Given the description of an element on the screen output the (x, y) to click on. 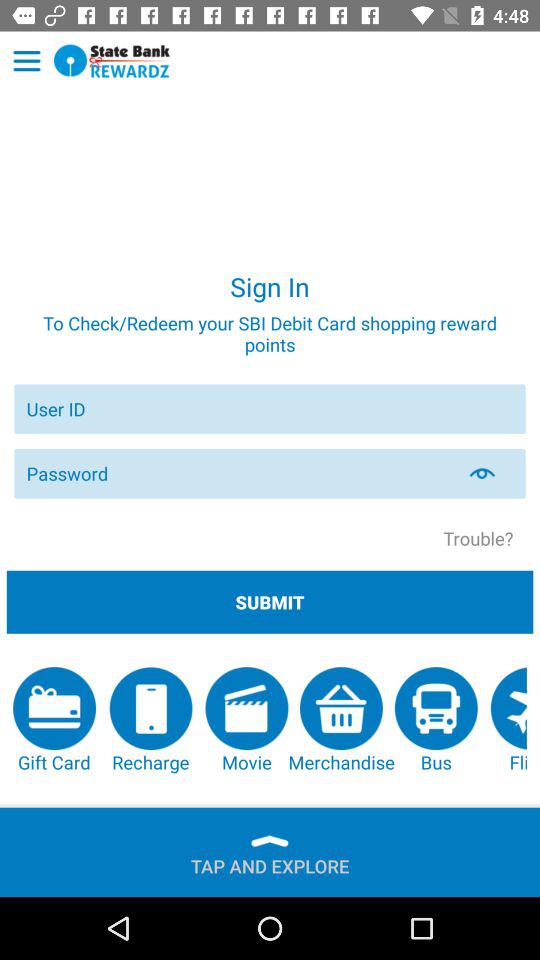
select the icon below the submit button (54, 720)
